Given the description of an element on the screen output the (x, y) to click on. 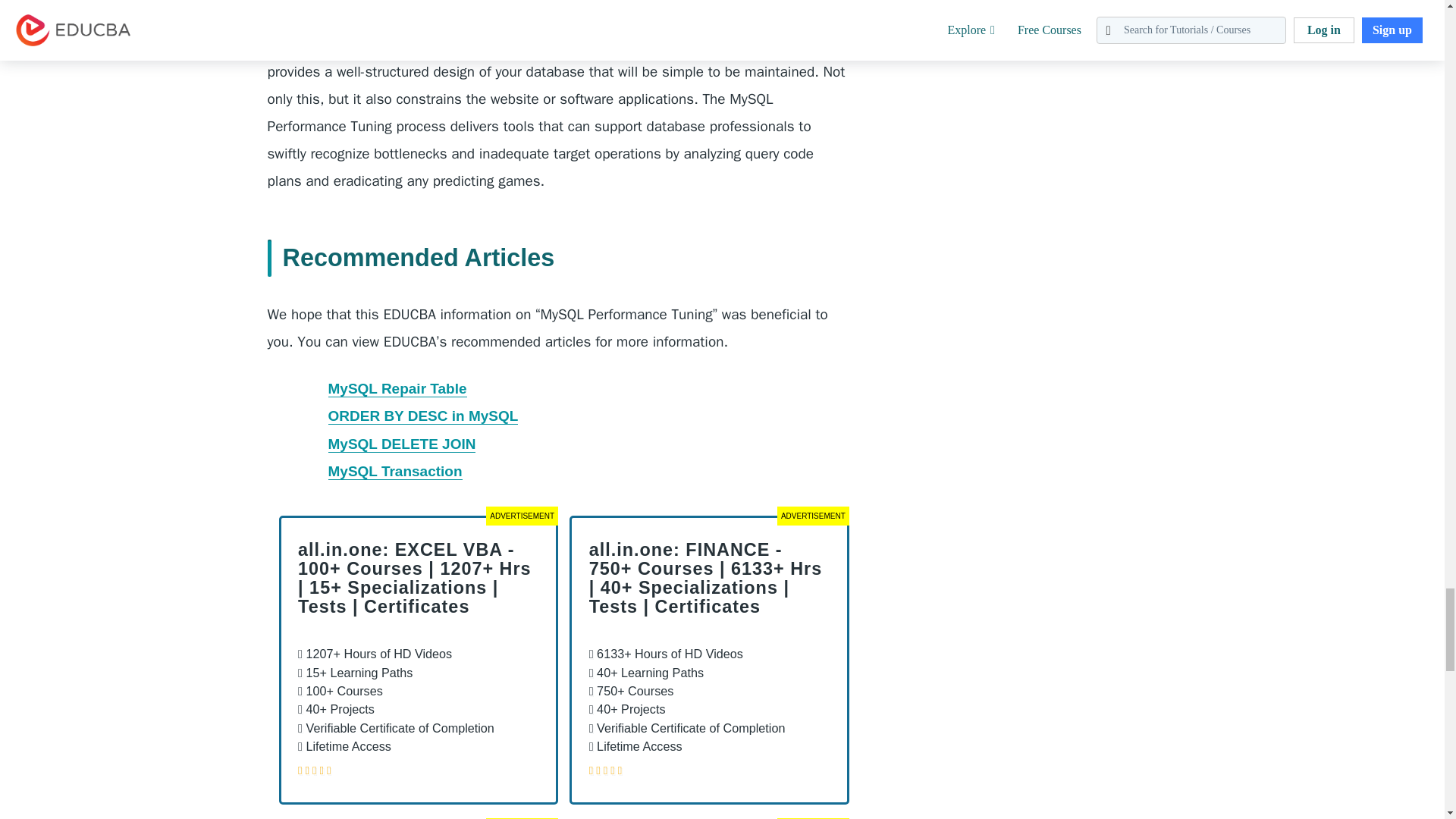
MySQL DELETE JOIN (401, 443)
MySQL Transaction (394, 471)
ORDER BY DESC in MySQL (422, 416)
MySQL Repair Table (396, 388)
